Given the description of an element on the screen output the (x, y) to click on. 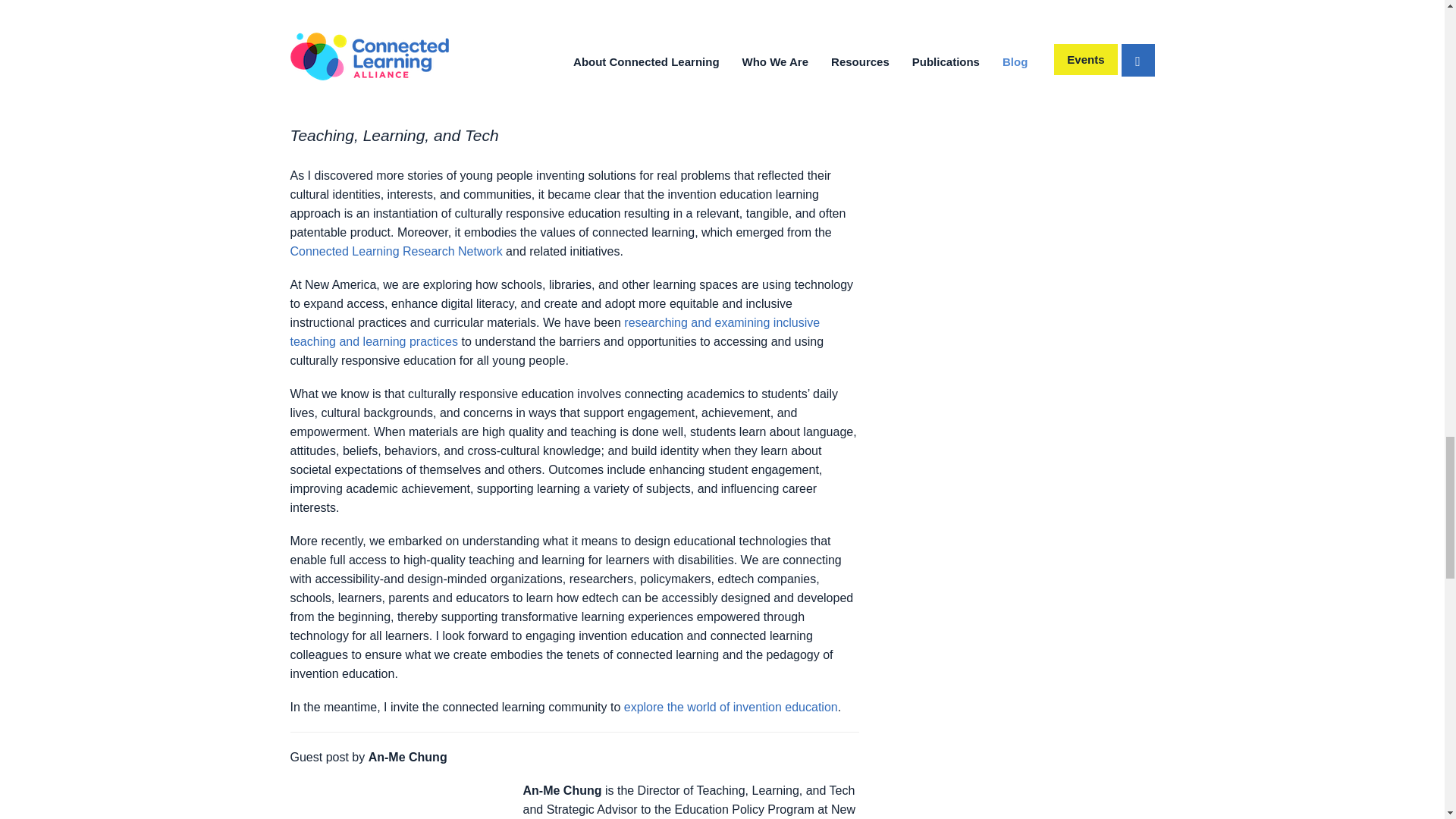
explore the world of invention education (731, 707)
Connected Learning Research Network (395, 250)
